Given the description of an element on the screen output the (x, y) to click on. 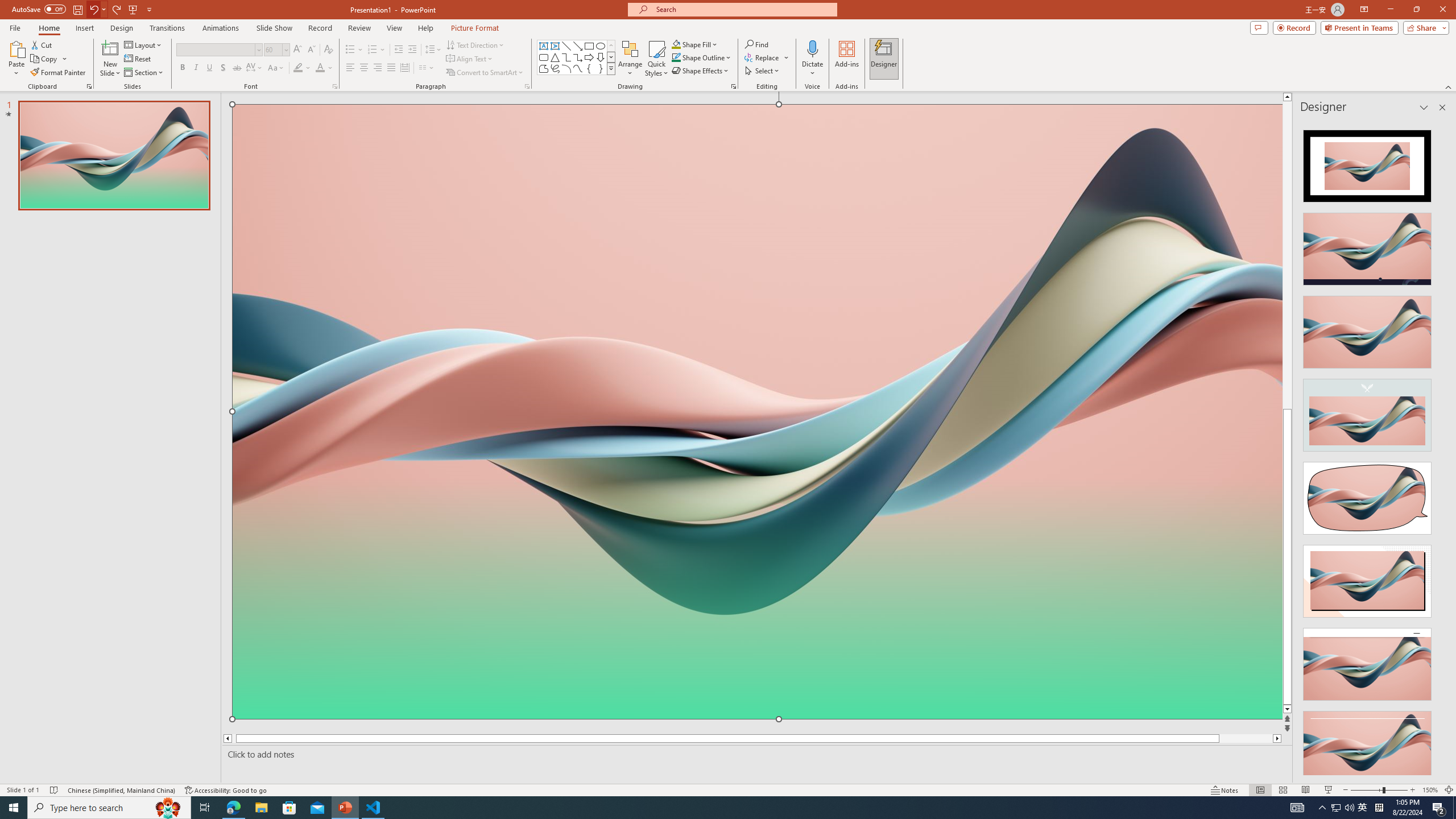
Wavy 3D art (757, 411)
